Given the description of an element on the screen output the (x, y) to click on. 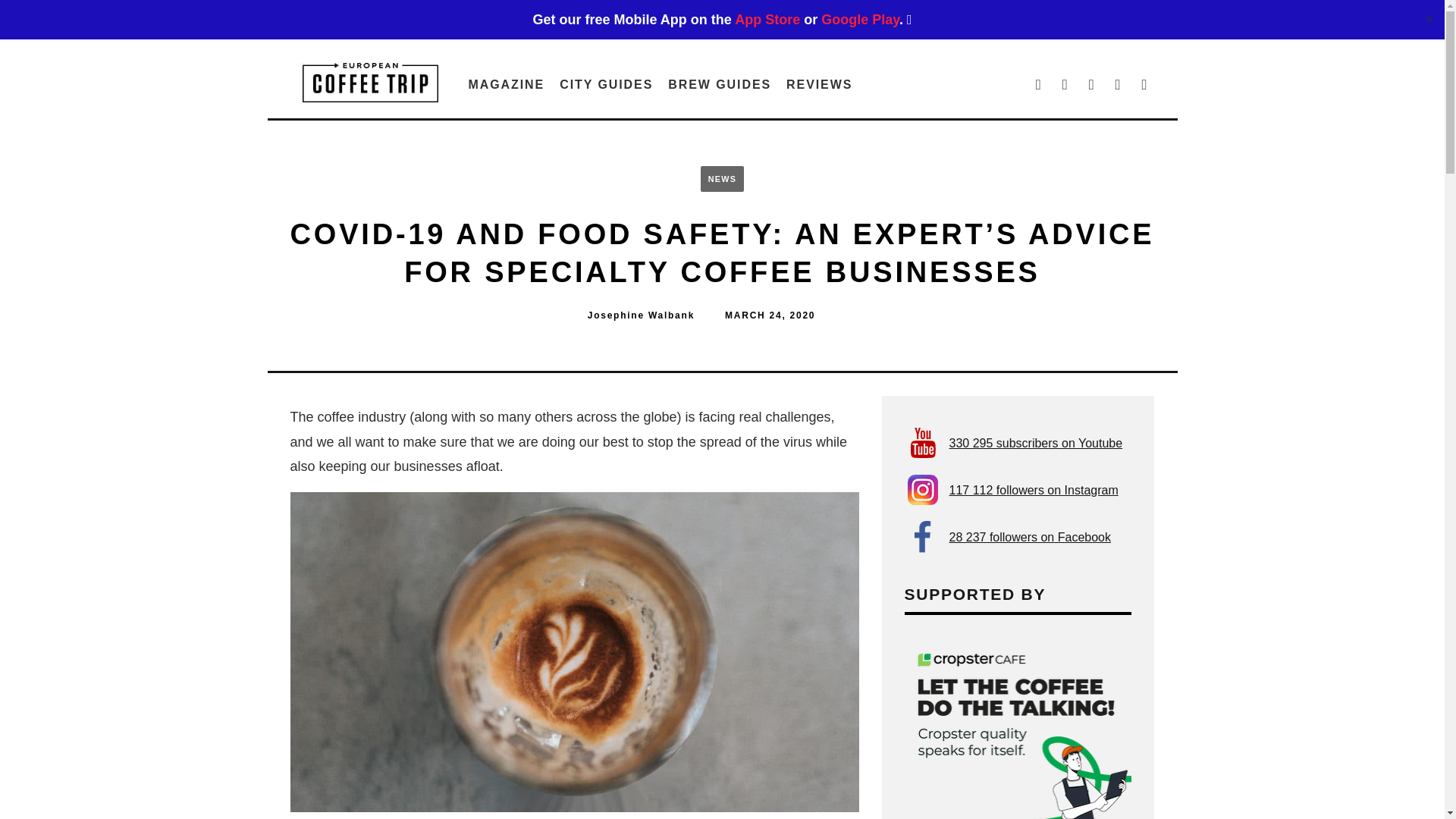
NEWS (722, 178)
330 295 subscribers on Youtube (1035, 442)
MAGAZINE (507, 82)
REVIEWS (819, 82)
App Store (767, 19)
117 112 followers on Instagram (1033, 490)
Josephine Walbank (641, 315)
CITY GUIDES (606, 82)
28 237 followers on Facebook (1029, 536)
BREW GUIDES (719, 82)
